Given the description of an element on the screen output the (x, y) to click on. 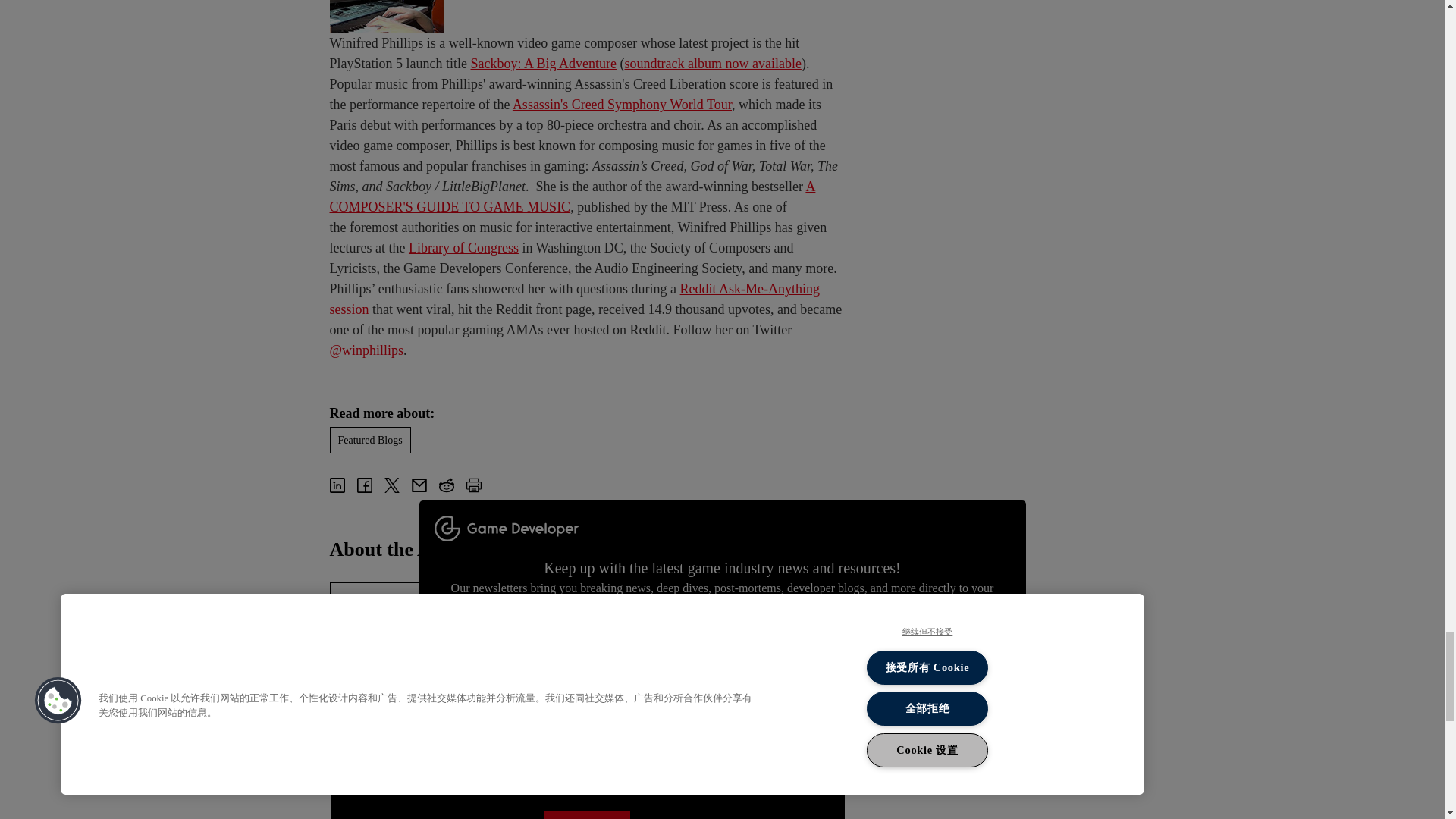
Winifred Phillips (384, 637)
